Given the description of an element on the screen output the (x, y) to click on. 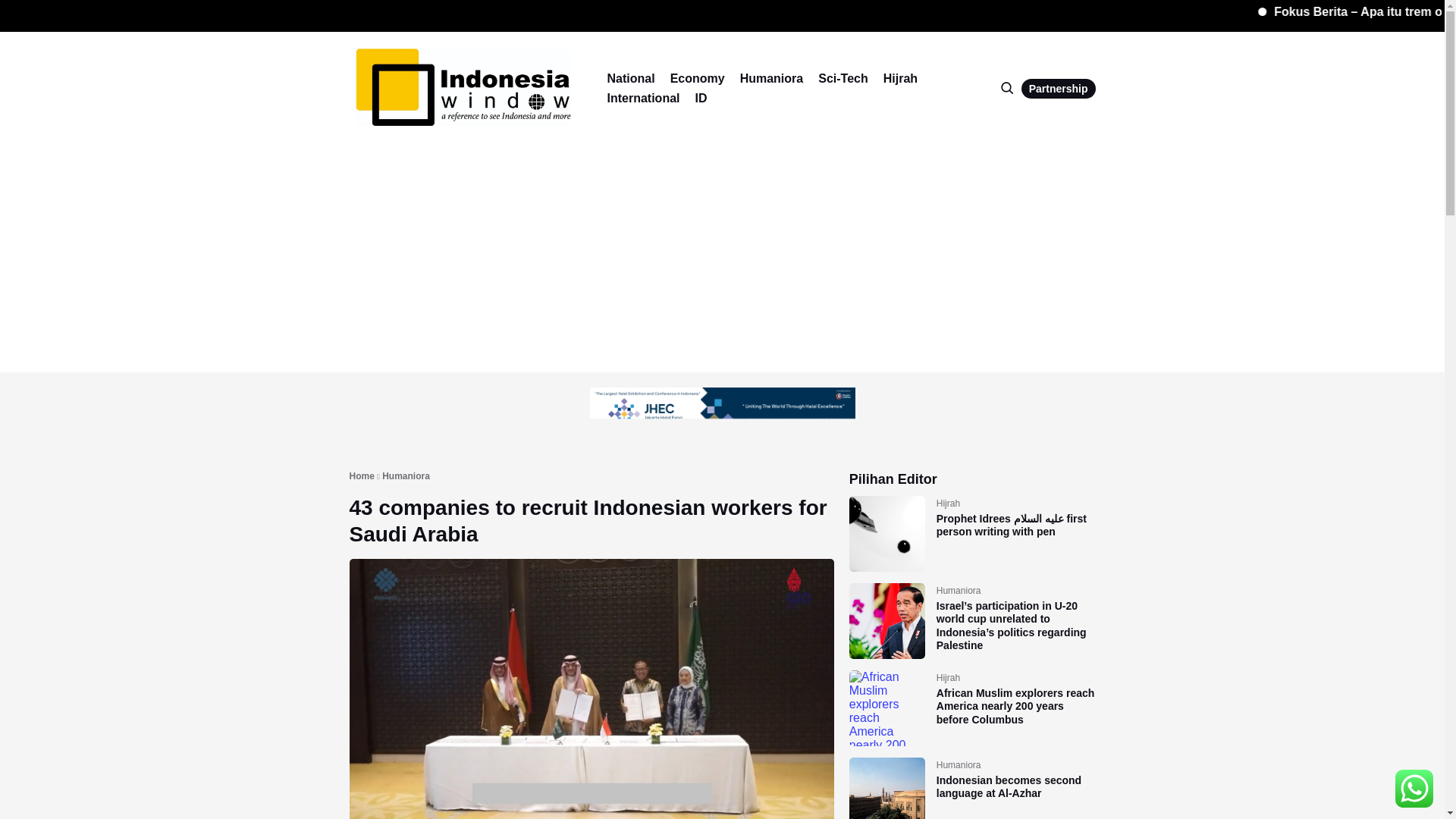
National (630, 78)
International (643, 98)
Economy (697, 78)
Humaniora (771, 78)
Humaniora (405, 476)
Hijrah (900, 78)
Home (361, 476)
43 companies to recruit Indonesian workers for Saudi Arabia (588, 521)
Partnership (1059, 88)
